Given the description of an element on the screen output the (x, y) to click on. 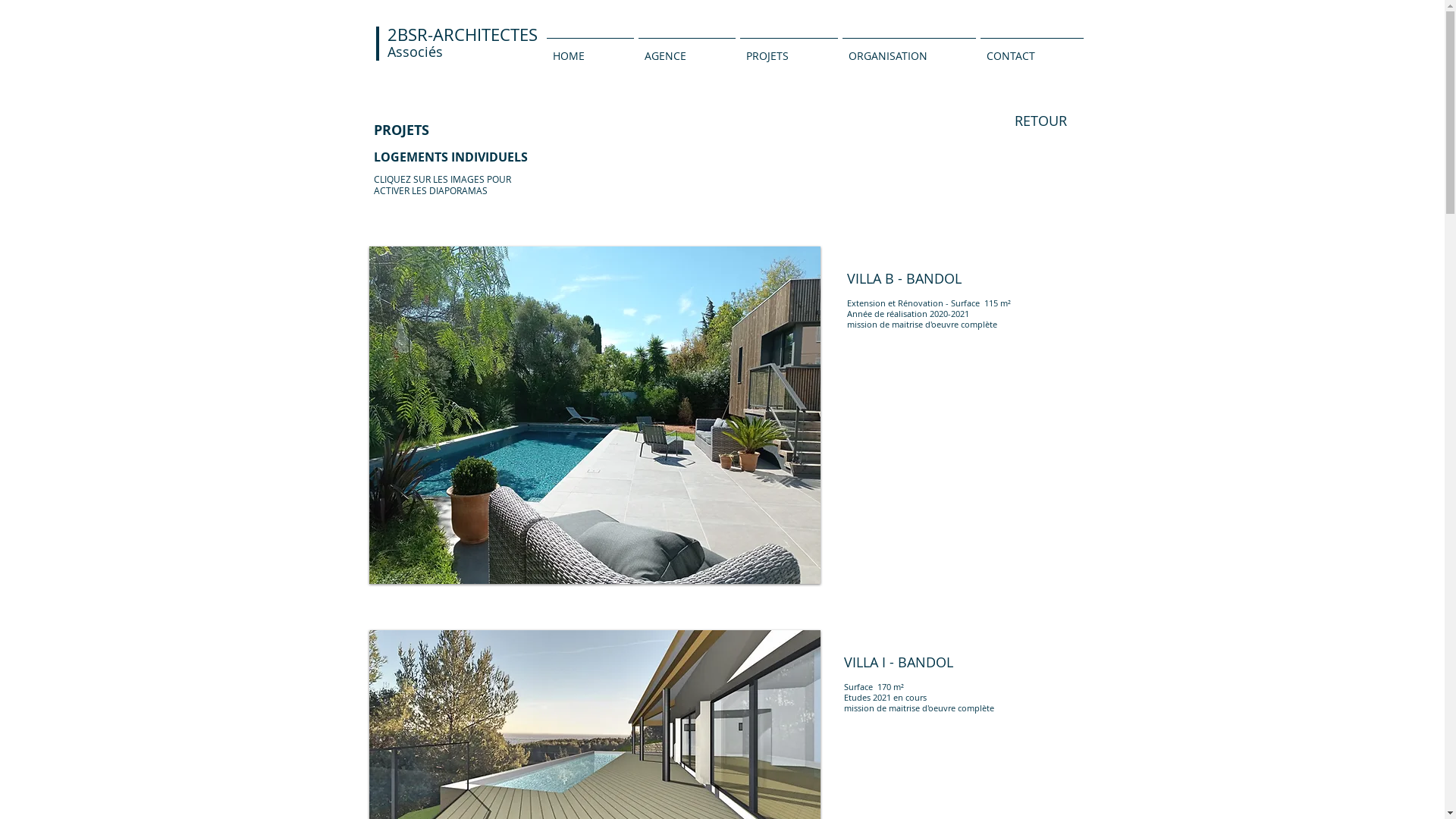
ORGANISATION Element type: text (909, 48)
CONTACT Element type: text (1031, 48)
PROJETS Element type: text (788, 48)
RETOUR Element type: text (1040, 120)
AGENCE Element type: text (686, 48)
HOME Element type: text (590, 48)
